Given the description of an element on the screen output the (x, y) to click on. 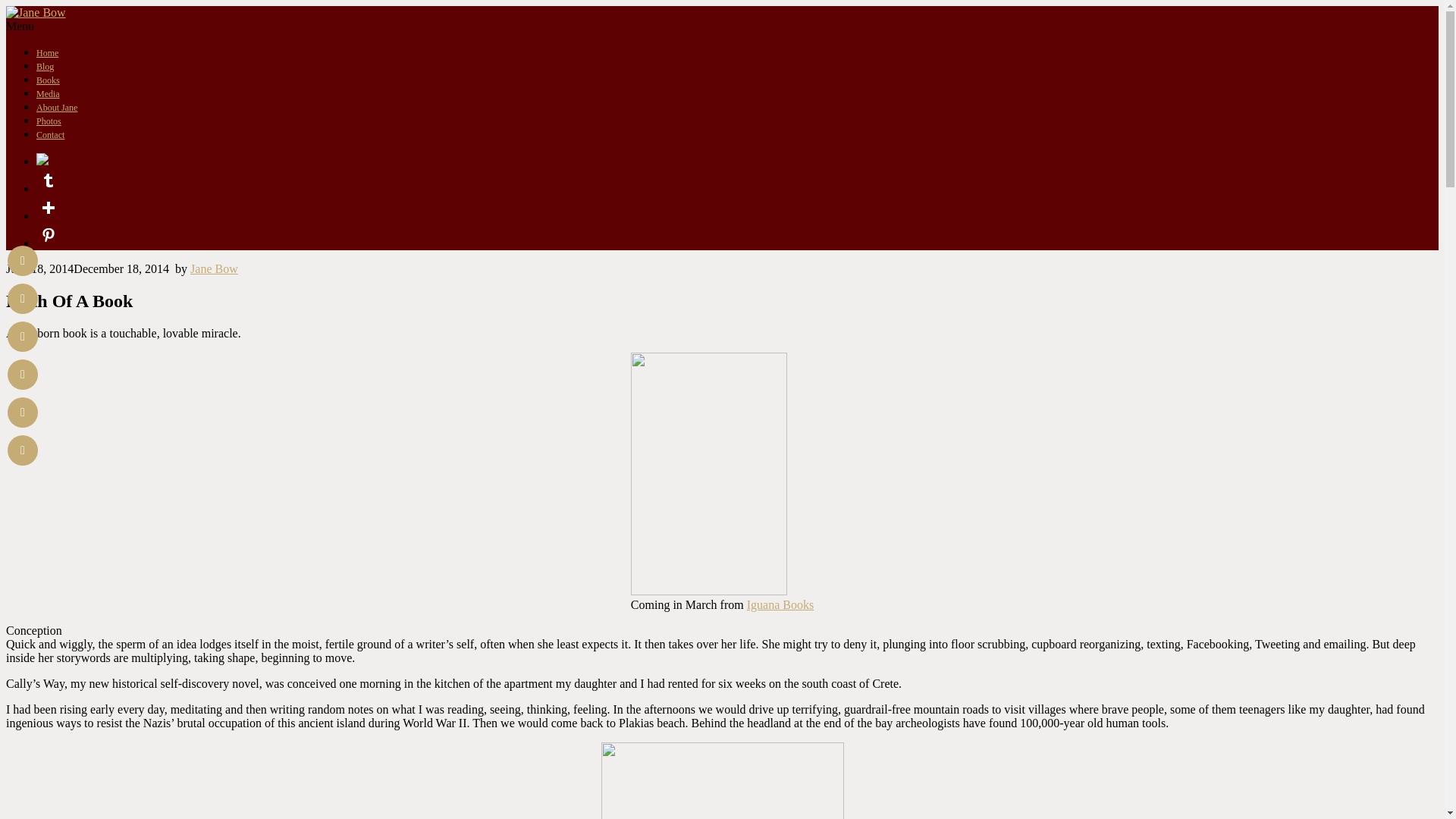
Home (47, 52)
Contact (50, 134)
About Jane (56, 107)
Photos (48, 121)
Books (47, 80)
Blog (44, 66)
Iguana Books (779, 604)
Media (47, 93)
Jane Bow (214, 268)
